Given the description of an element on the screen output the (x, y) to click on. 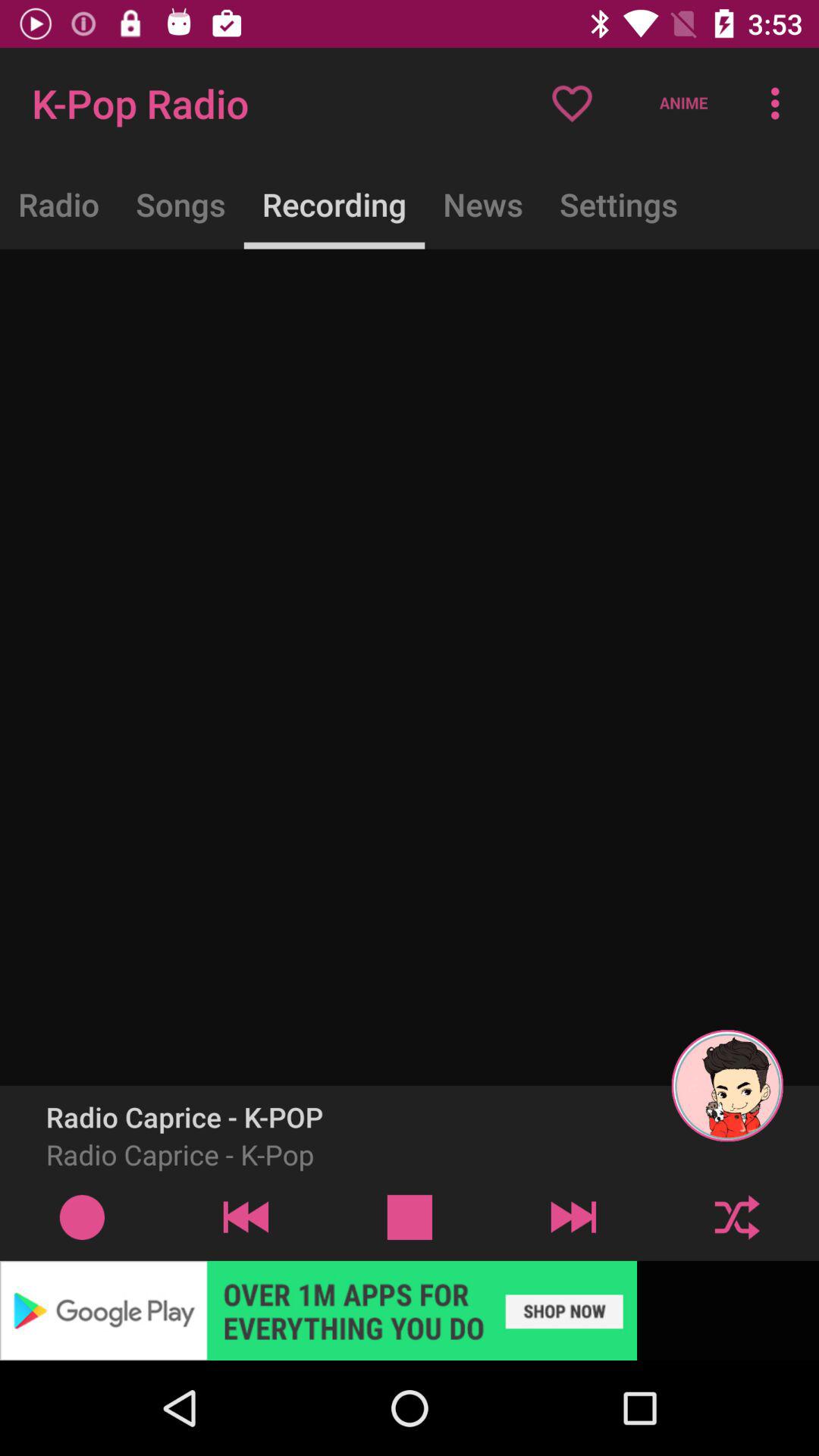
reverse option (245, 1216)
